Given the description of an element on the screen output the (x, y) to click on. 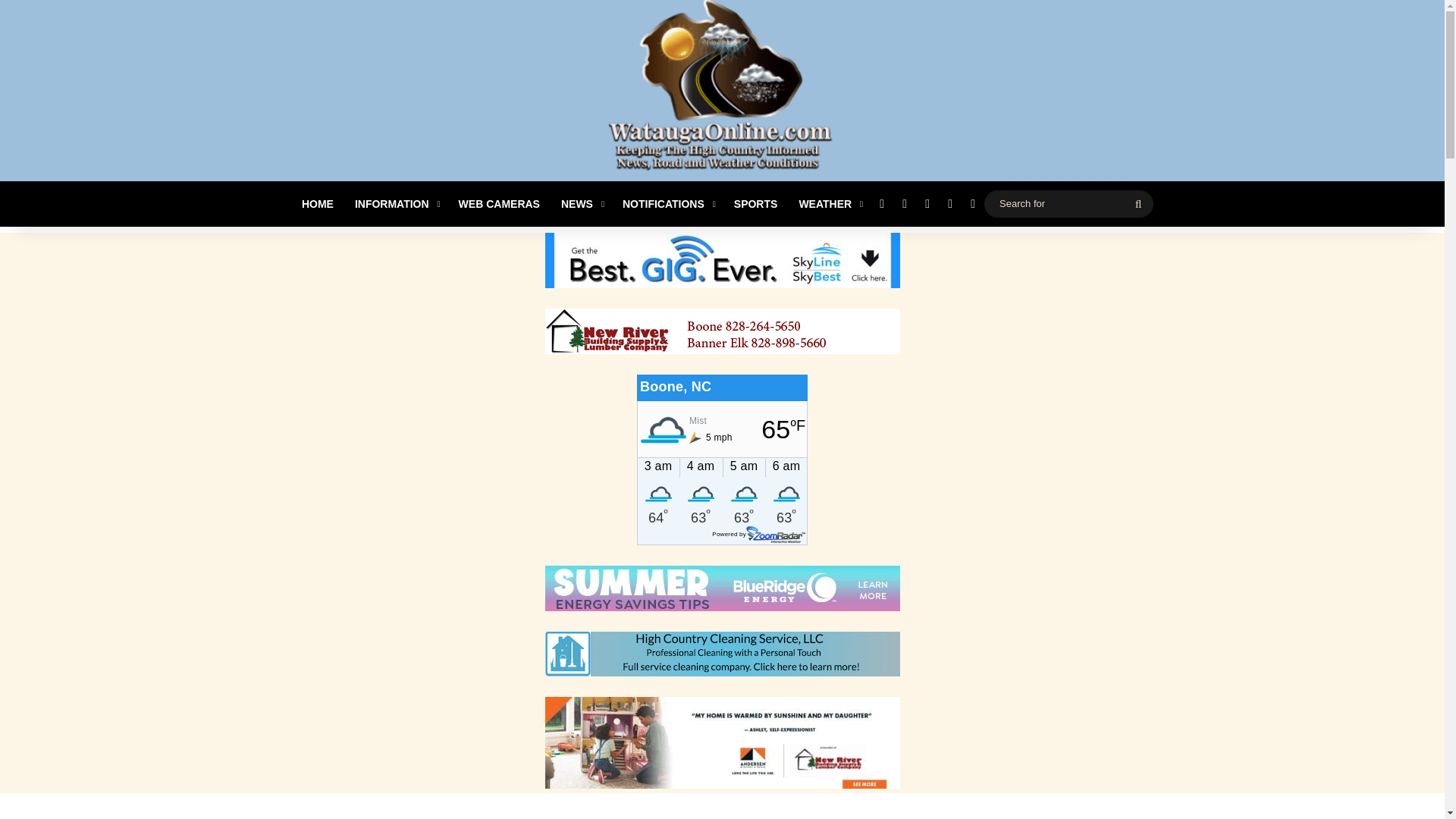
NEWS (580, 203)
WEB CAMERAS (499, 203)
Blue Ridge Energy (721, 587)
WataugaOnline.com (721, 92)
HOME (317, 203)
Search for (1068, 203)
WEATHER (828, 203)
NOTIFICATIONS (667, 203)
New River Building Supply (721, 330)
SPORTS (756, 203)
INFORMATION (395, 203)
